Given the description of an element on the screen output the (x, y) to click on. 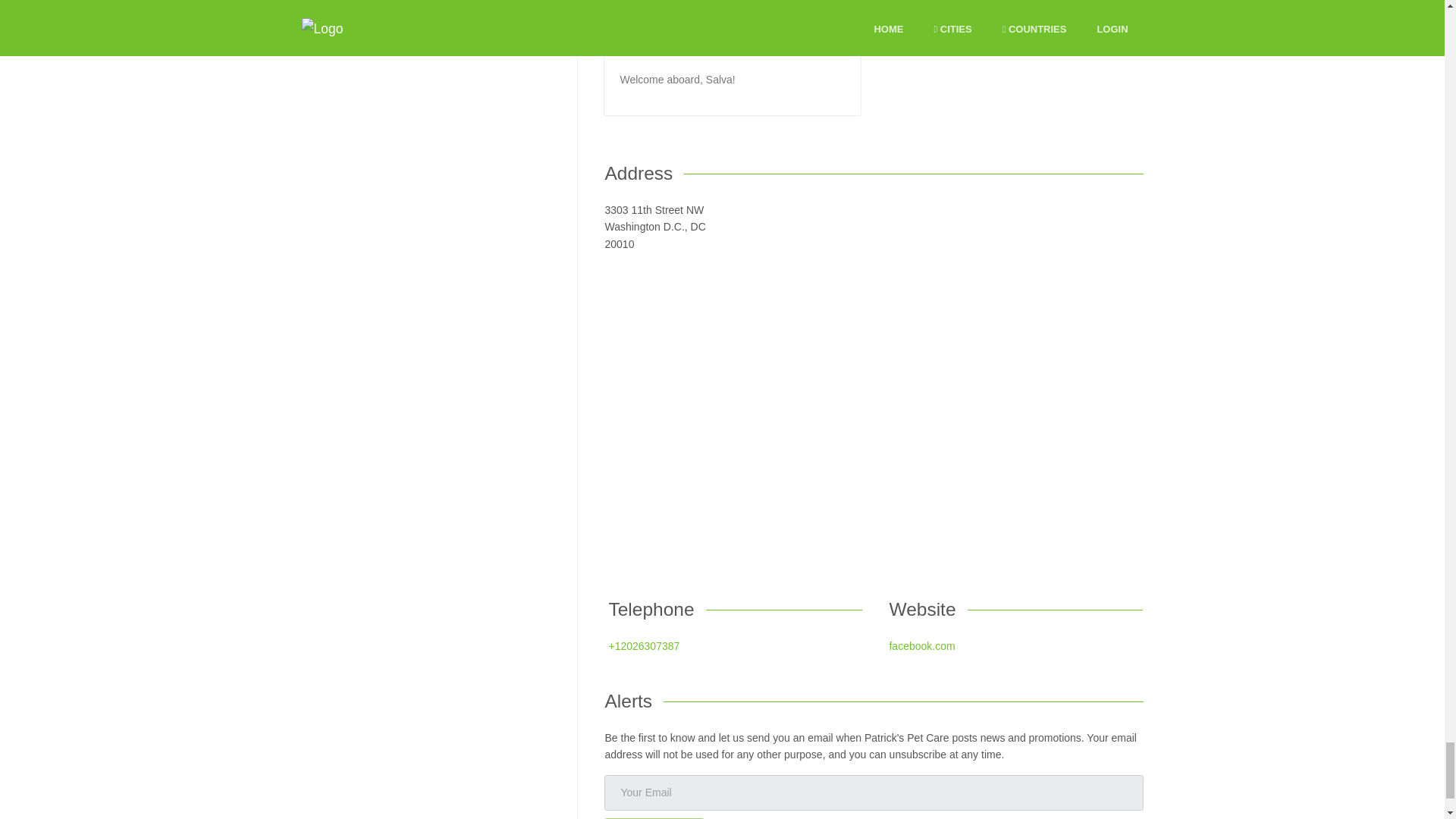
facebook.com (921, 645)
